Given the description of an element on the screen output the (x, y) to click on. 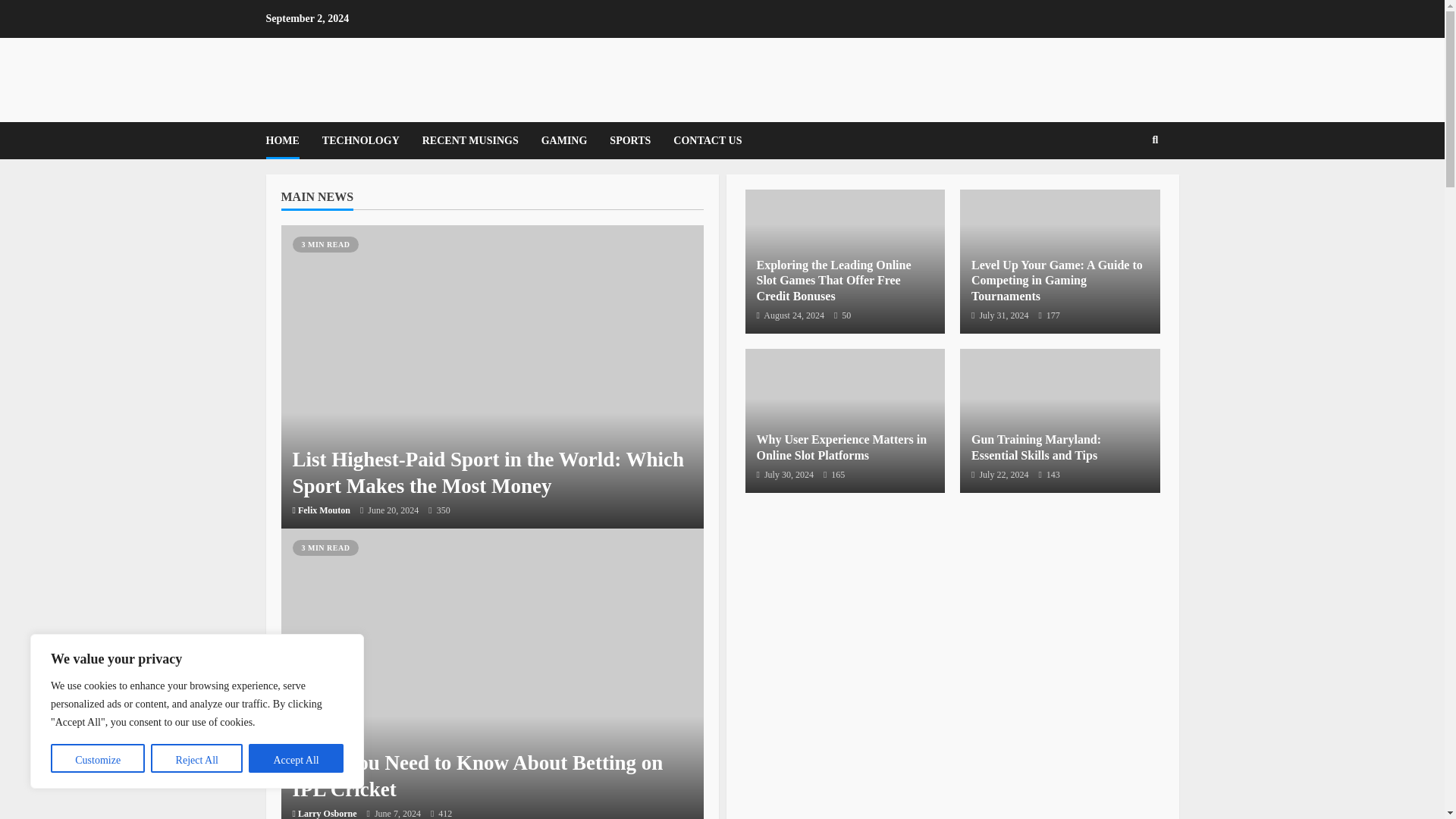
Search (1131, 192)
What You Need to Know About Betting on IPL Cricket (492, 673)
350 (438, 510)
HOME (287, 140)
Larry Osborne (327, 812)
TECHNOLOGY (360, 140)
What You Need to Know About Betting on IPL Cricket (477, 775)
Felix Mouton (324, 509)
Customize (97, 758)
SPORTS (630, 140)
